Given the description of an element on the screen output the (x, y) to click on. 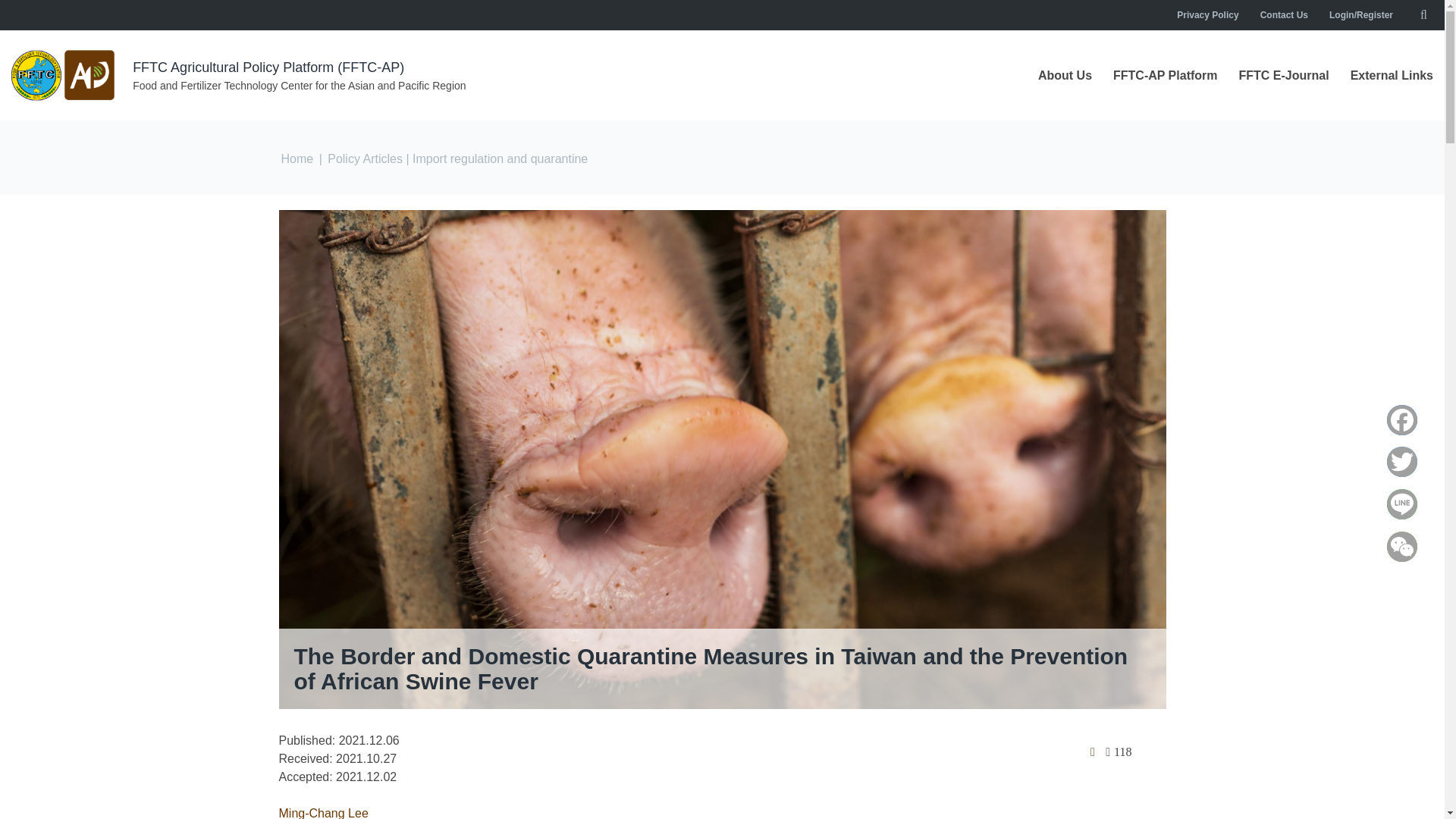
FFTC-AP Platform (1165, 75)
share to Wechat (1402, 545)
Home (64, 75)
About Us (1065, 75)
FFTC E-Journal (1284, 75)
Ming-Chang Lee (323, 812)
share to Twitter (1402, 461)
Line (1402, 503)
